Given the description of an element on the screen output the (x, y) to click on. 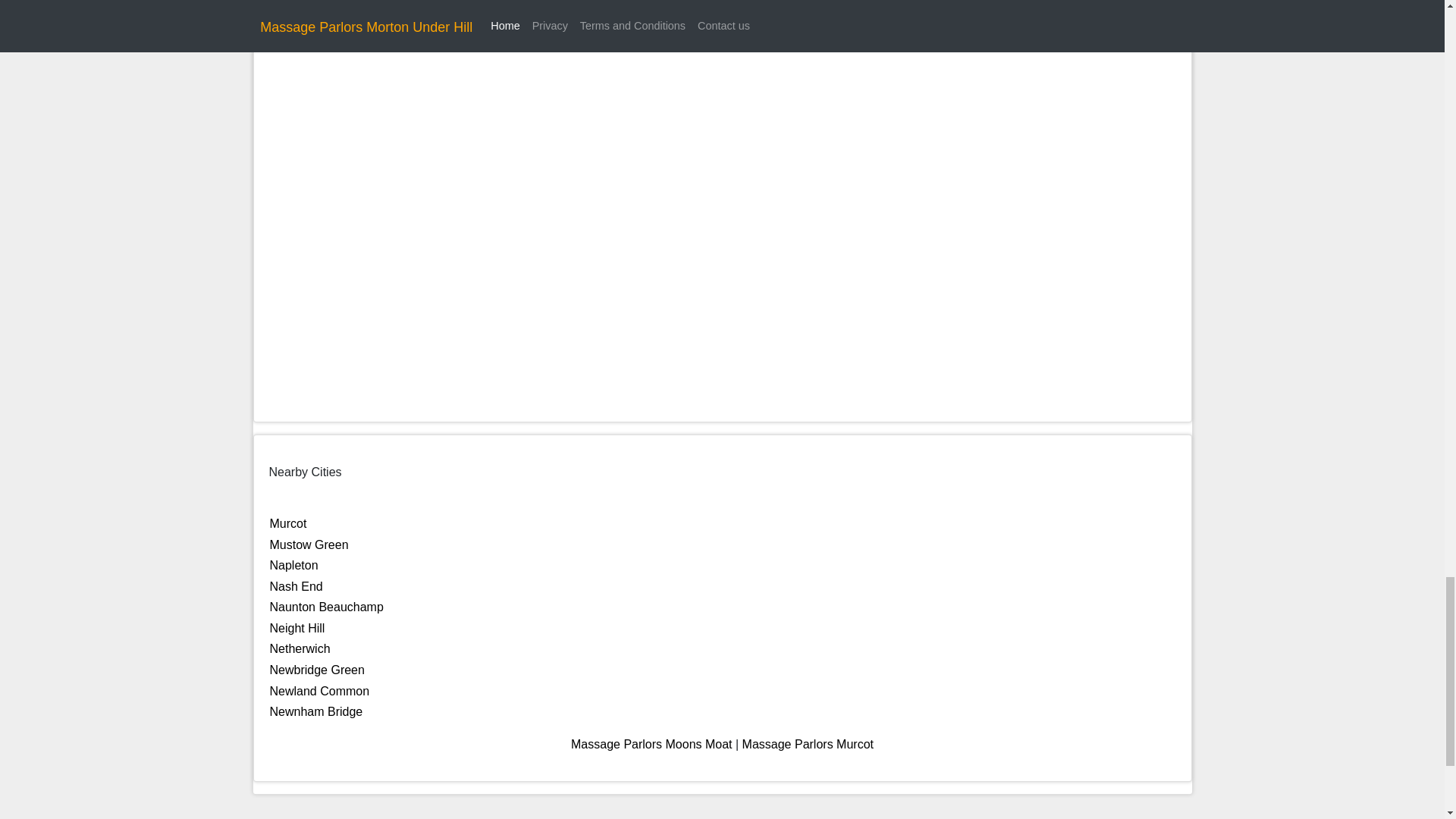
Massage Parlors Moons Moat (651, 744)
Napleton (293, 564)
Naunton Beauchamp (326, 606)
Newbridge Green (317, 669)
Murcot (288, 522)
Neight Hill (296, 627)
Massage Parlors Murcot (807, 744)
Mustow Green (309, 544)
Newnham Bridge (315, 711)
Nash End (296, 585)
